Given the description of an element on the screen output the (x, y) to click on. 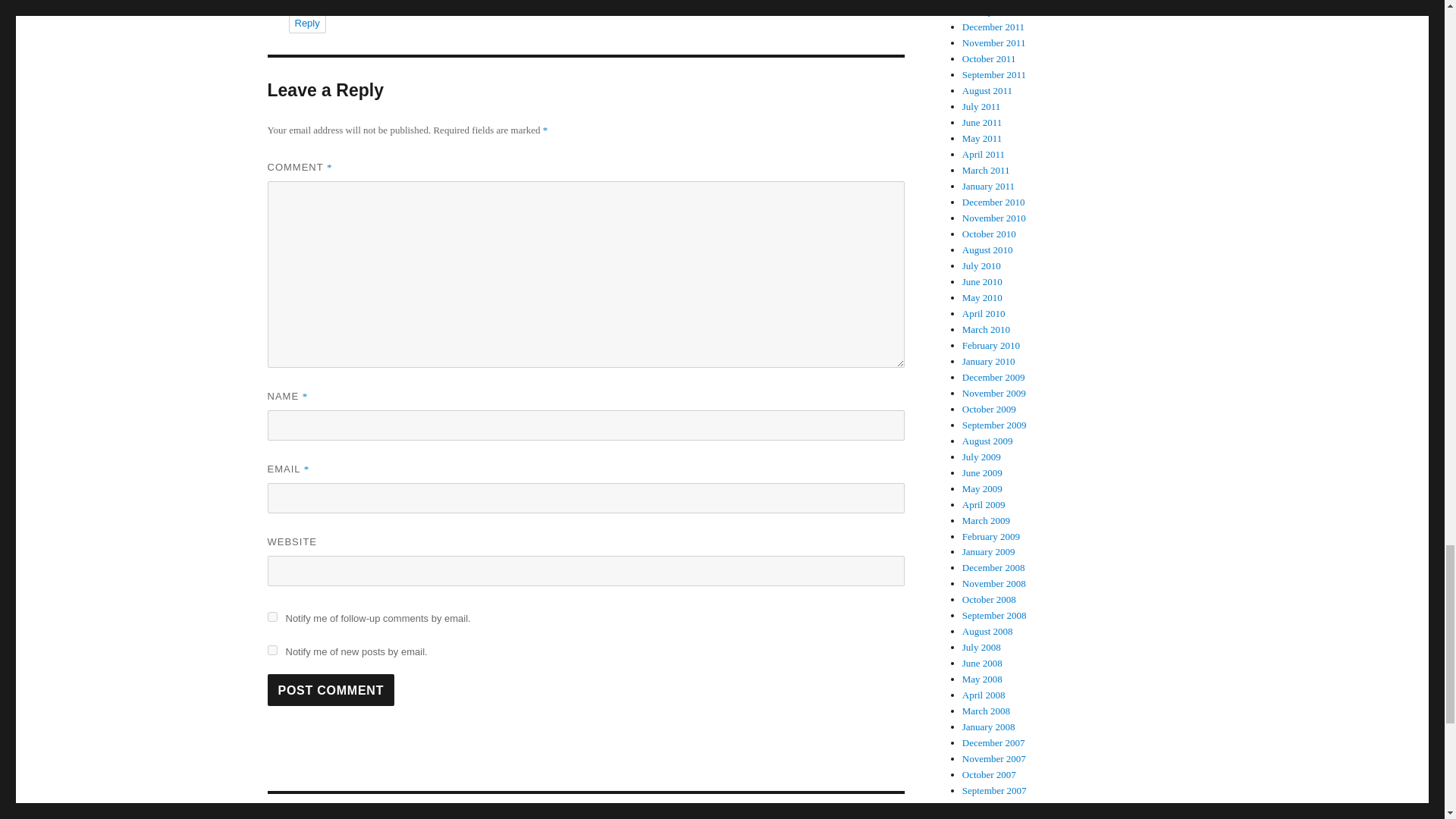
subscribe (585, 806)
Reply (271, 616)
Post Comment (306, 22)
subscribe (330, 689)
Post Comment (271, 650)
